Given the description of an element on the screen output the (x, y) to click on. 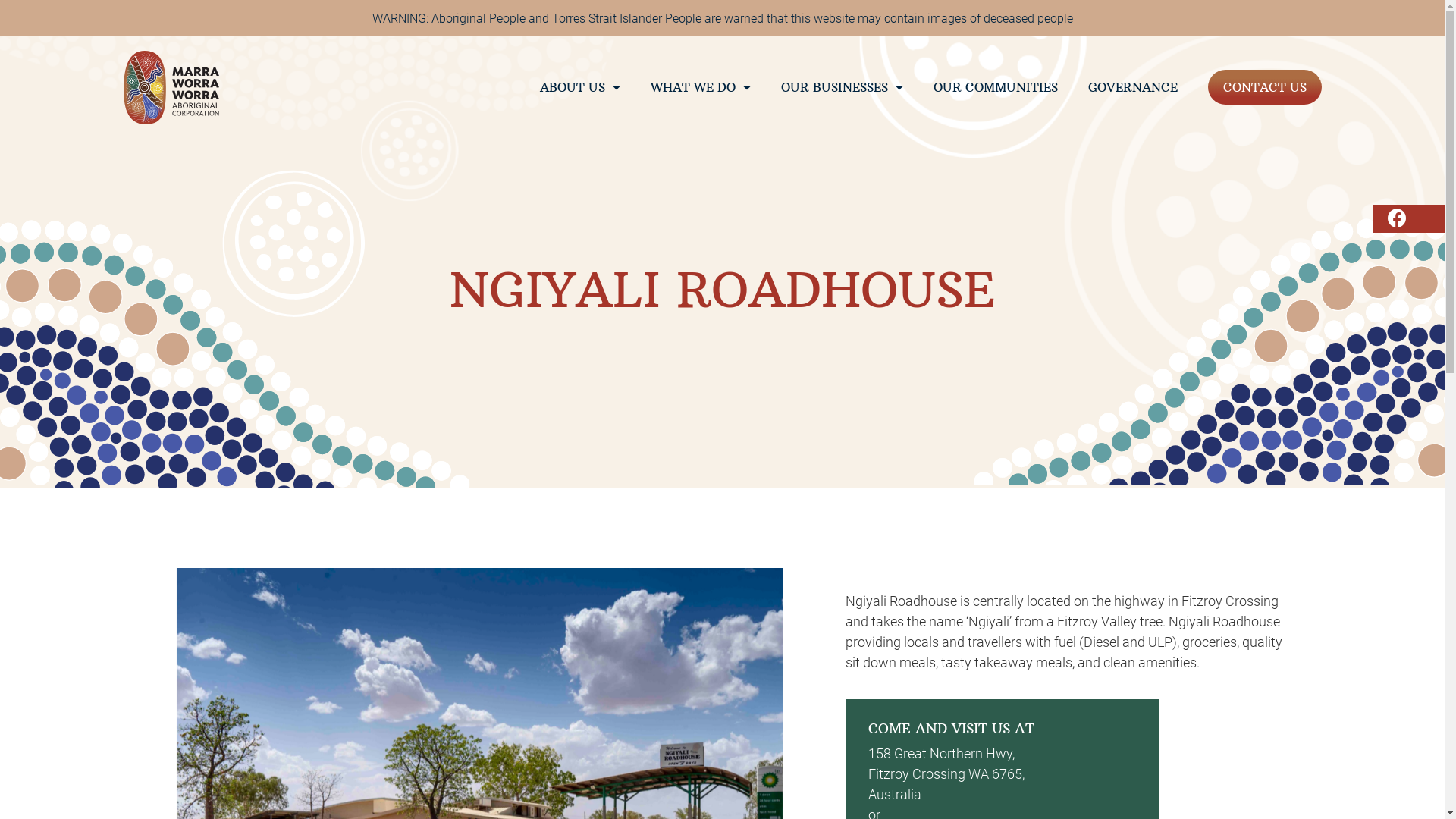
ABOUT US Element type: text (579, 86)
GOVERNANCE Element type: text (1132, 86)
OUR BUSINESSES Element type: text (841, 86)
WHAT WE DO Element type: text (700, 86)
OUR COMMUNITIES Element type: text (994, 86)
CONTACT US Element type: text (1264, 86)
